Given the description of an element on the screen output the (x, y) to click on. 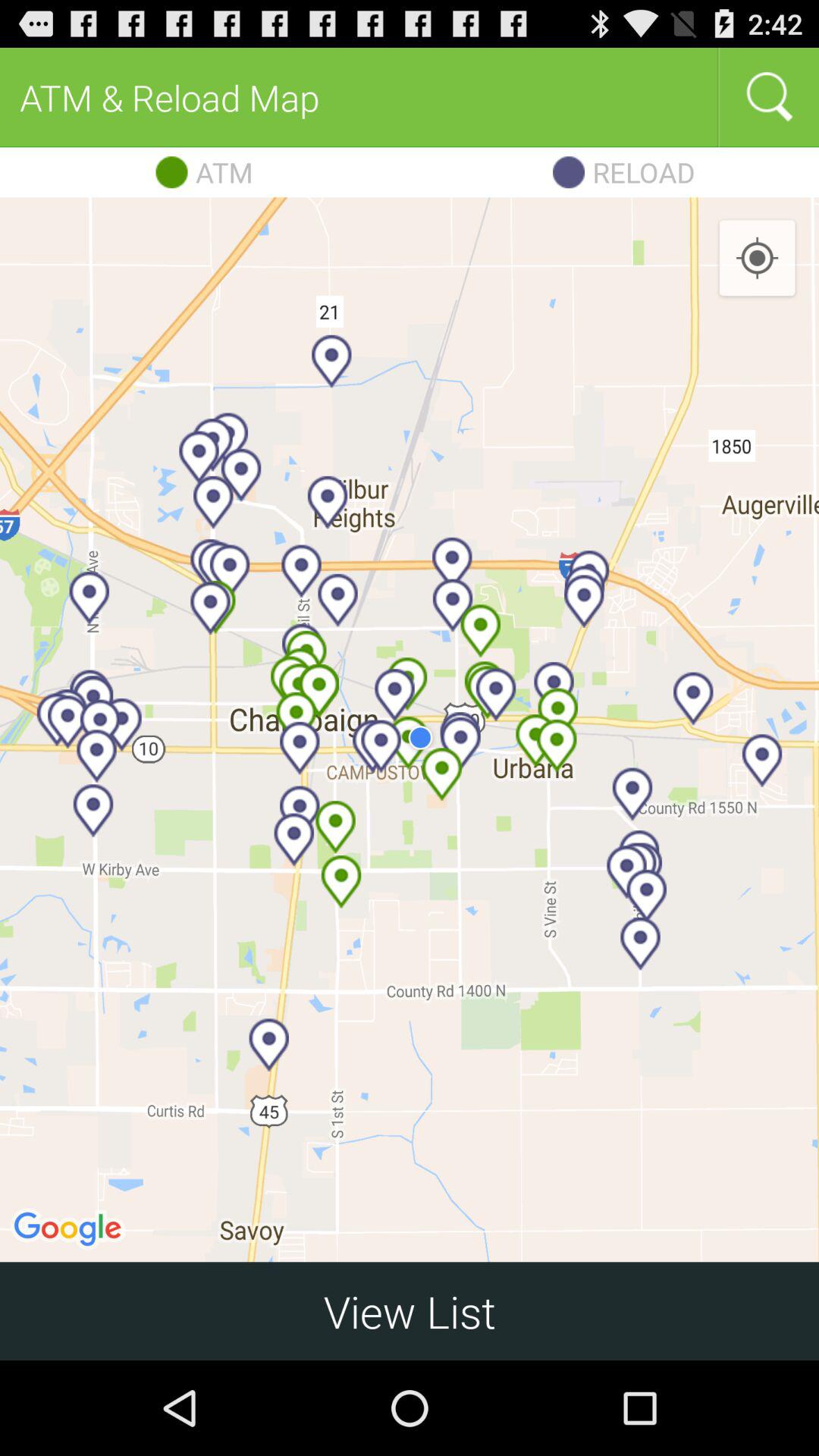
open item at the bottom (409, 1311)
